Given the description of an element on the screen output the (x, y) to click on. 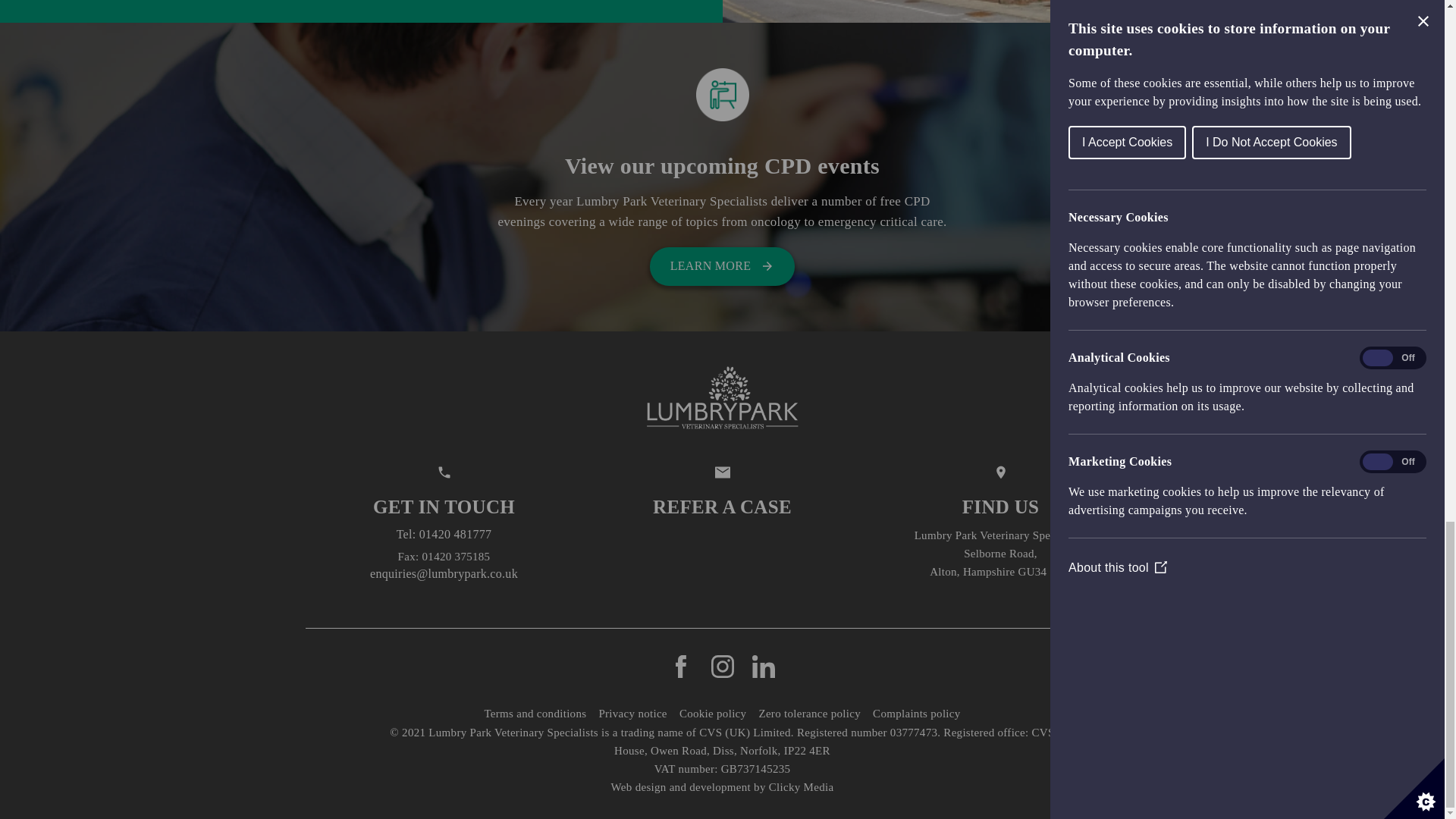
Cookie policy (712, 713)
Zero tolerance policy (809, 713)
REFER A CASE (722, 496)
Tel: 01420 481777 (444, 534)
Terms and conditions (534, 713)
Terms and conditions (534, 713)
LinkedIn (763, 665)
LEARN MORE (721, 266)
Complaints policy (916, 713)
Facebook (682, 665)
Privacy notice (632, 713)
Instagram (723, 665)
CVS Group plc website (744, 732)
